Given the description of an element on the screen output the (x, y) to click on. 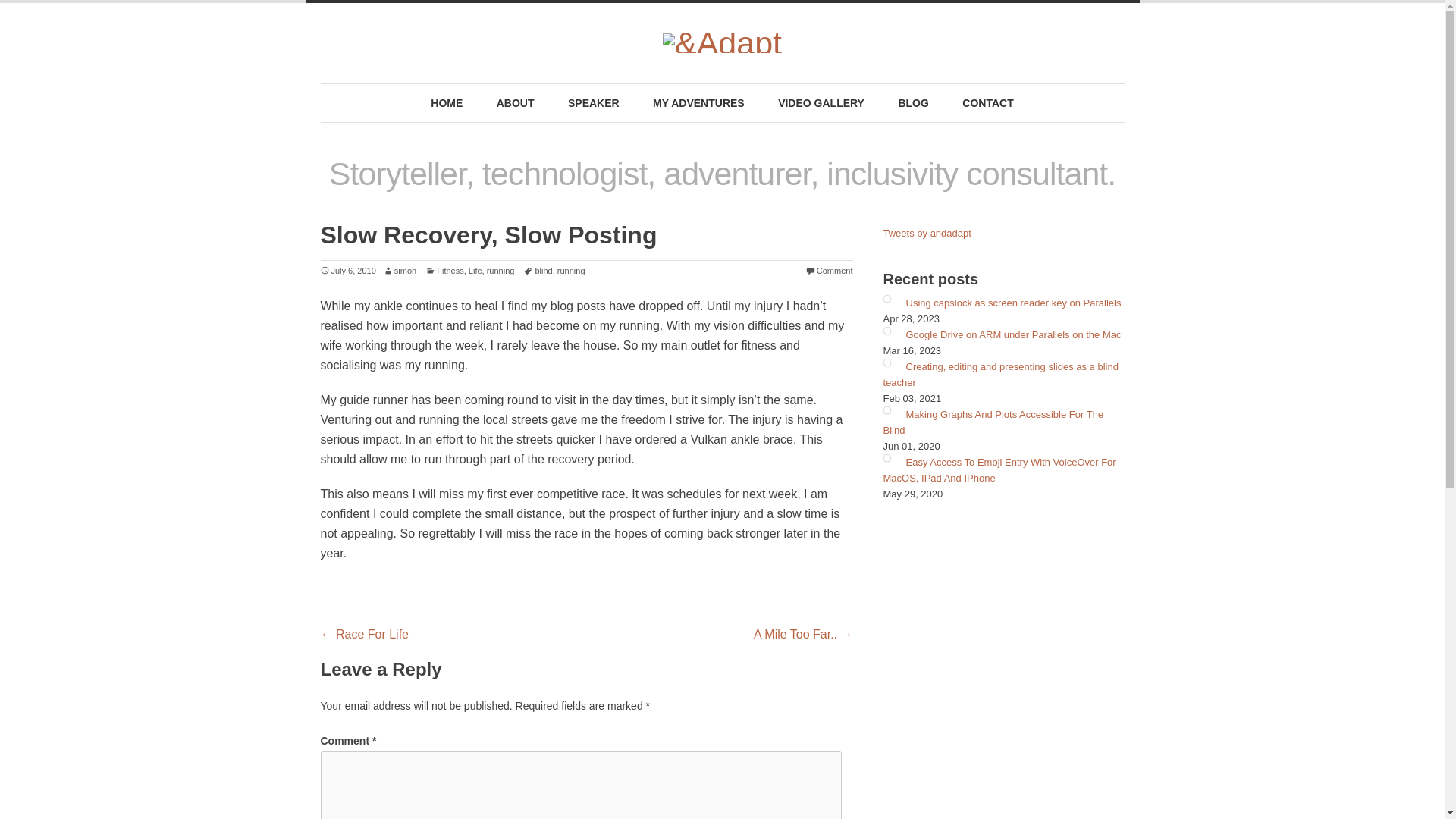
Making Graphs And Plots Accessible For The Blind (992, 421)
Creating, editing and presenting slides as a blind teacher (1000, 374)
ABOUT (515, 102)
Fitness (444, 270)
BLOG (912, 102)
CONTACT (987, 102)
running (571, 270)
Comment (829, 270)
VIDEO GALLERY (820, 102)
Life (474, 270)
Using capslock as screen reader key on Parallels (1013, 302)
Google Drive on ARM under Parallels on the Mac (1013, 334)
Making Graphs And Plots Accessible For The Blind (992, 421)
Creating, editing and presenting slides as a blind teacher (1000, 374)
SPEAKER (593, 102)
